Given the description of an element on the screen output the (x, y) to click on. 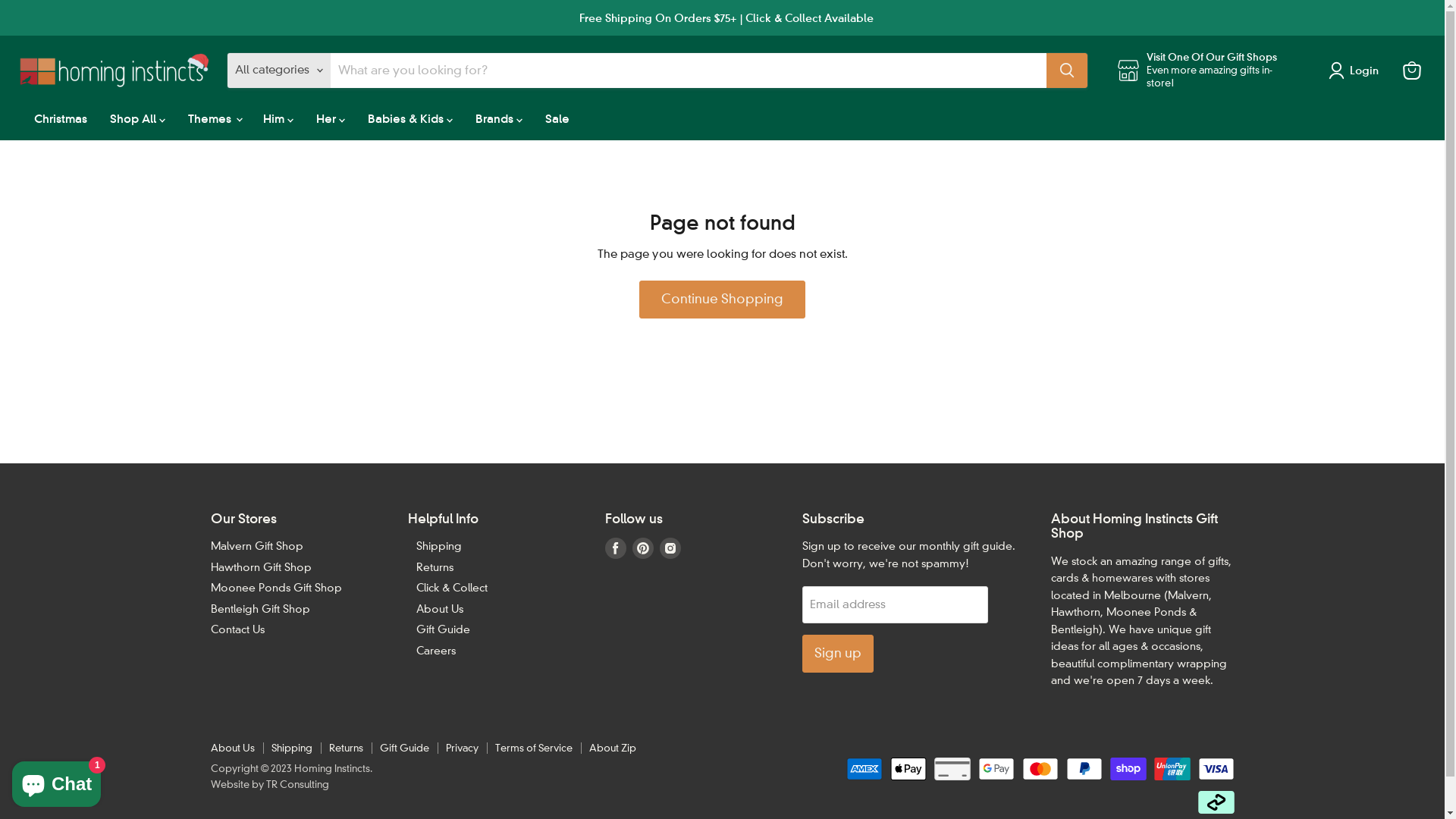
About Zip Element type: text (611, 747)
Find us on Instagram Element type: text (669, 547)
Gift Guide Element type: text (403, 747)
Hawthorn Gift Shop Element type: text (260, 567)
Sale Element type: text (556, 118)
About Us Element type: text (232, 747)
Privacy Element type: text (461, 747)
Malvern Gift Shop Element type: text (256, 545)
Moonee Ponds Gift Shop Element type: text (276, 587)
Shopify online store chat Element type: hover (56, 780)
Sign up Element type: text (837, 652)
View cart Element type: text (1411, 70)
Returns Element type: text (346, 747)
Bentleigh Gift Shop Element type: text (260, 608)
Find us on Facebook Element type: text (615, 547)
Shipping Element type: text (291, 747)
Continue Shopping Element type: text (722, 298)
TR Consulting Element type: text (296, 784)
Login Element type: text (1363, 70)
Find us on Pinterest Element type: text (642, 547)
Terms of Service Element type: text (532, 747)
Contact Us Element type: text (237, 629)
